Given the description of an element on the screen output the (x, y) to click on. 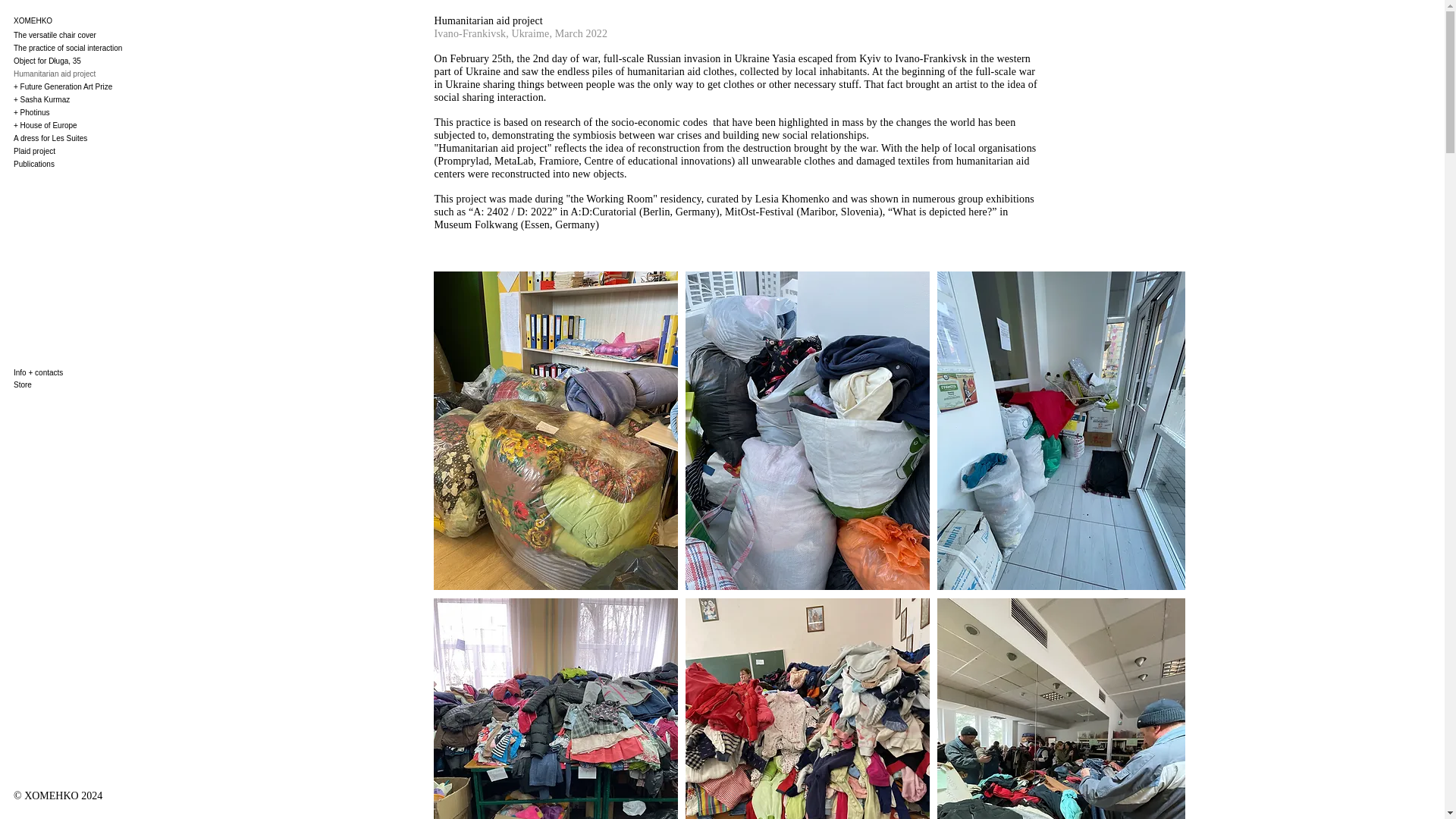
XOMEHKO (81, 21)
A dress for Les Suites (100, 137)
Store (81, 385)
Publications (100, 164)
Plaid project (100, 151)
The practice of social interaction (100, 47)
The versatile chair cover (100, 34)
Humanitarian aid project (100, 73)
